Given the description of an element on the screen output the (x, y) to click on. 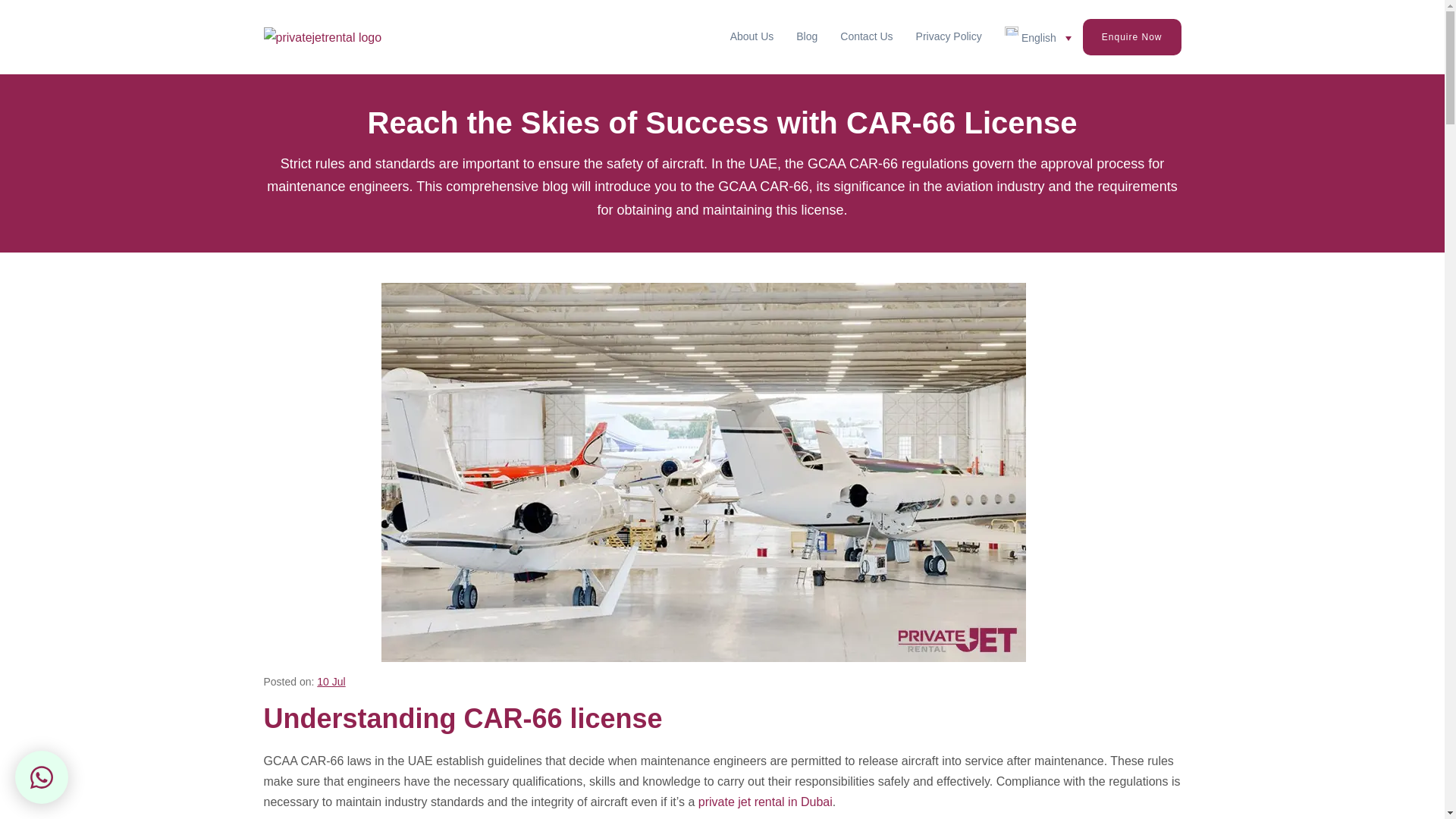
Privacy Policy (948, 37)
Enquire Now (1131, 36)
private jet rental in Dubai (765, 801)
English (1037, 36)
About Us (752, 37)
10 Jul (331, 681)
Contact Us (866, 37)
English (1037, 36)
